Given the description of an element on the screen output the (x, y) to click on. 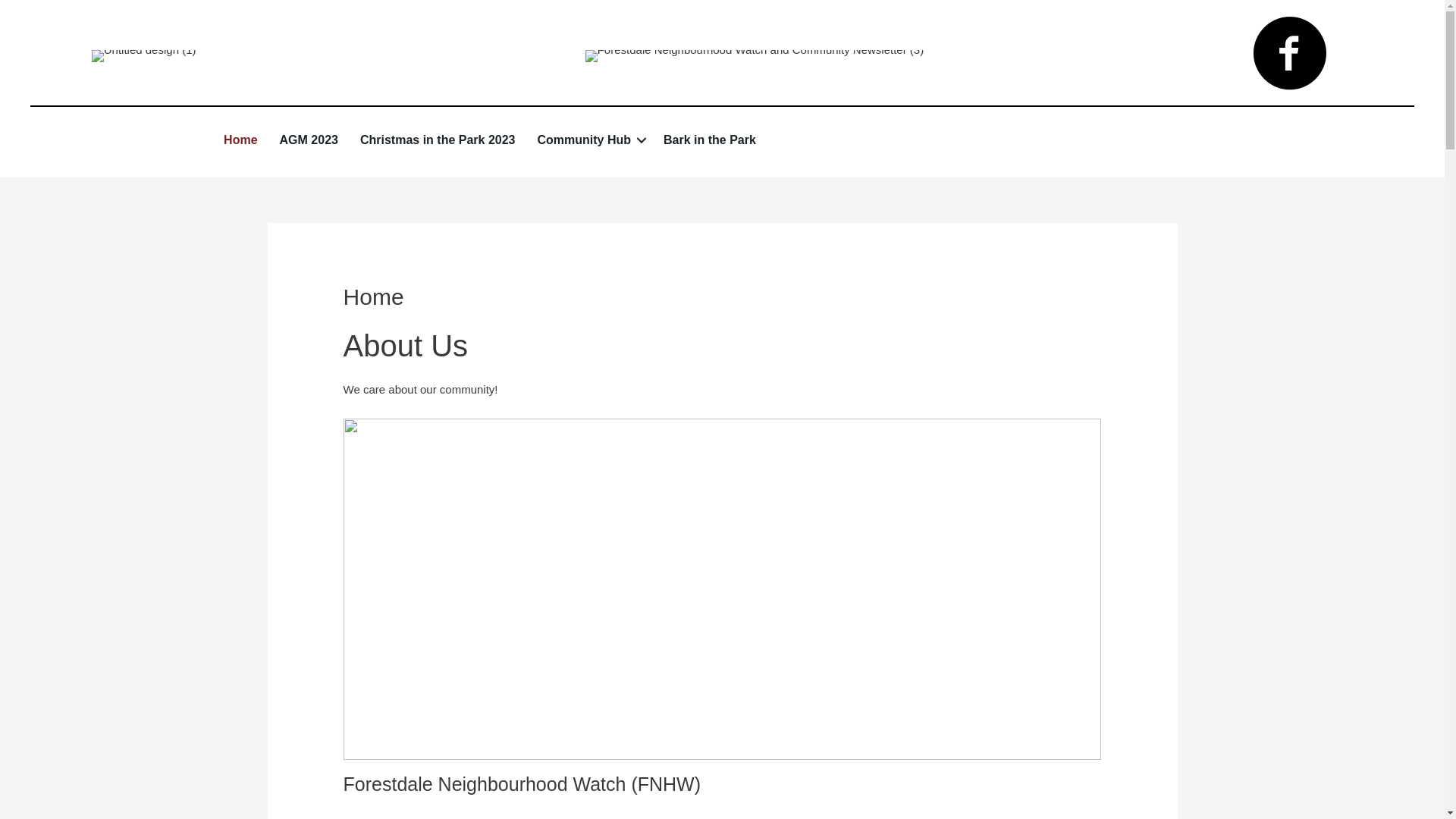
AGM 2023 Element type: text (308, 140)
Home Element type: text (240, 140)
Untitled design (1) Element type: hover (143, 56)
Bark in the Park Element type: text (709, 140)
Community Hub Element type: text (589, 140)
Forestdale Neighbourhood Watch and Community Newsletter (3) Element type: hover (754, 56)
Christmas in the Park 2023 Element type: text (437, 140)
